Given the description of an element on the screen output the (x, y) to click on. 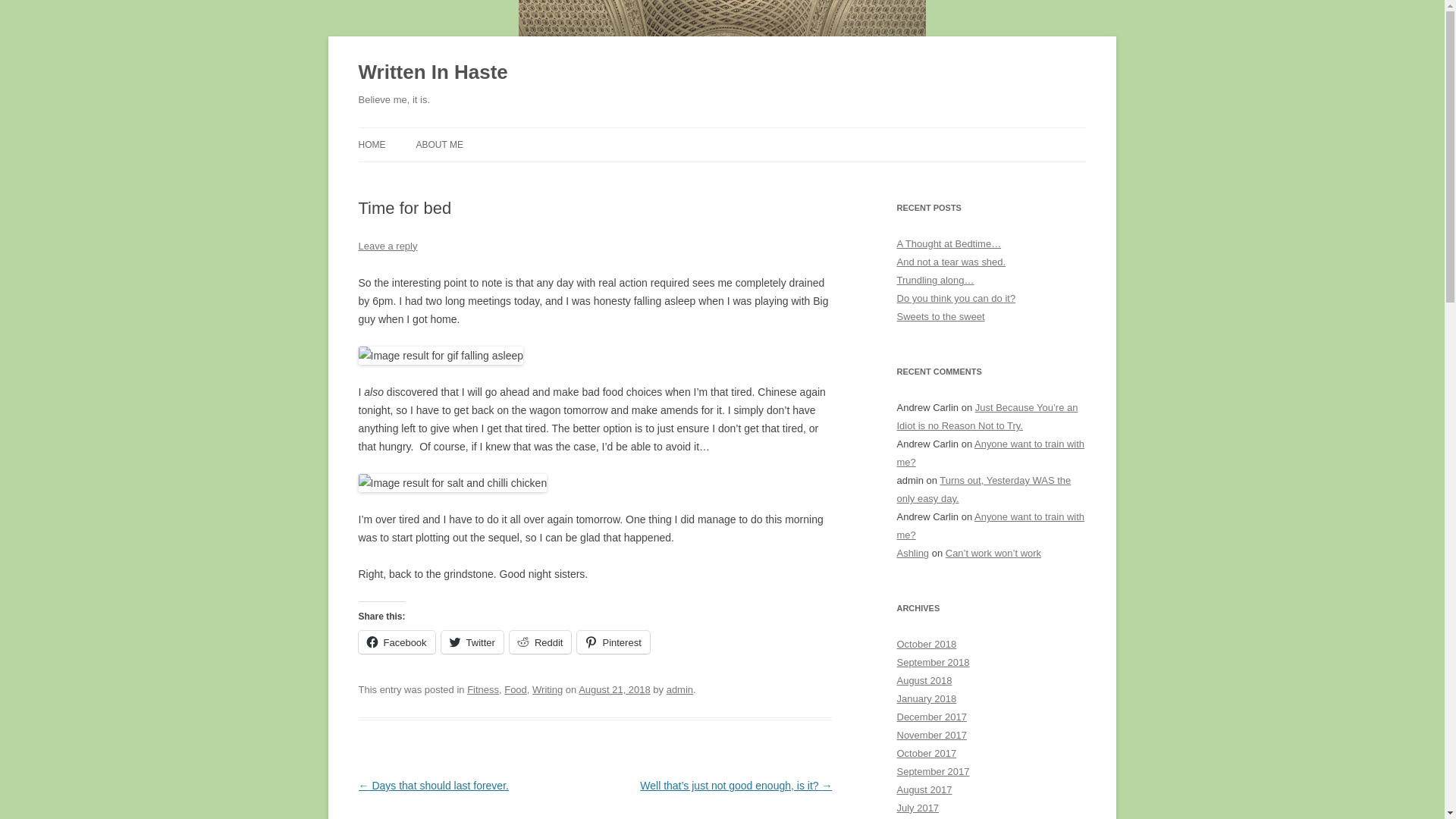
Writing (547, 689)
August 2017 (924, 789)
Anyone want to train with me? (990, 525)
Leave a reply (387, 245)
August 21, 2018 (614, 689)
View all posts by admin (679, 689)
Click to share on Twitter (472, 641)
Reddit (540, 641)
Facebook (395, 641)
Written In Haste (432, 72)
Anyone want to train with me? (990, 452)
Do you think you can do it? (955, 297)
August 2018 (924, 680)
Click to share on Reddit (540, 641)
